Given the description of an element on the screen output the (x, y) to click on. 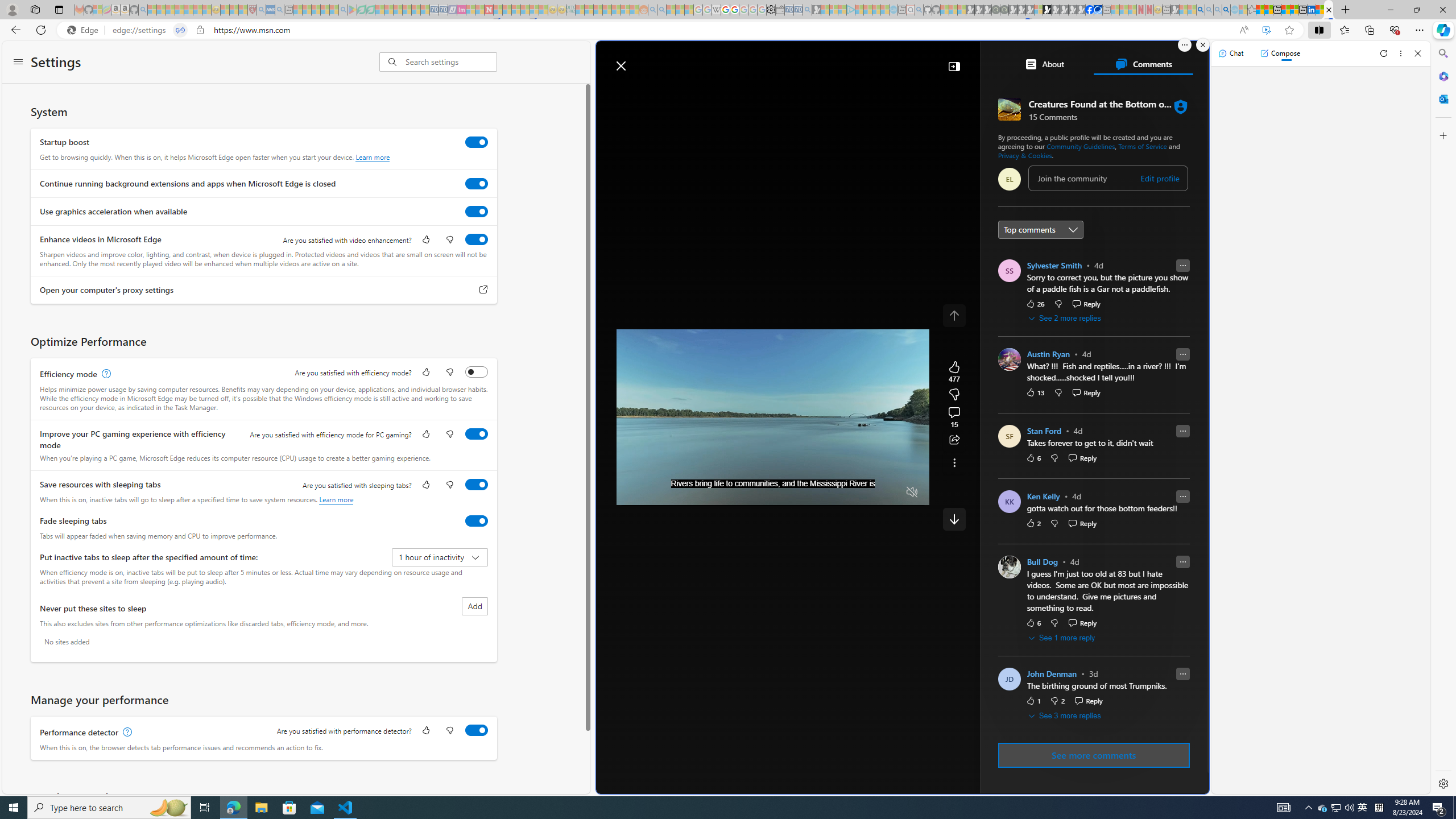
Save resources with sleeping tabs (476, 484)
Comments (1143, 63)
